Given the description of an element on the screen output the (x, y) to click on. 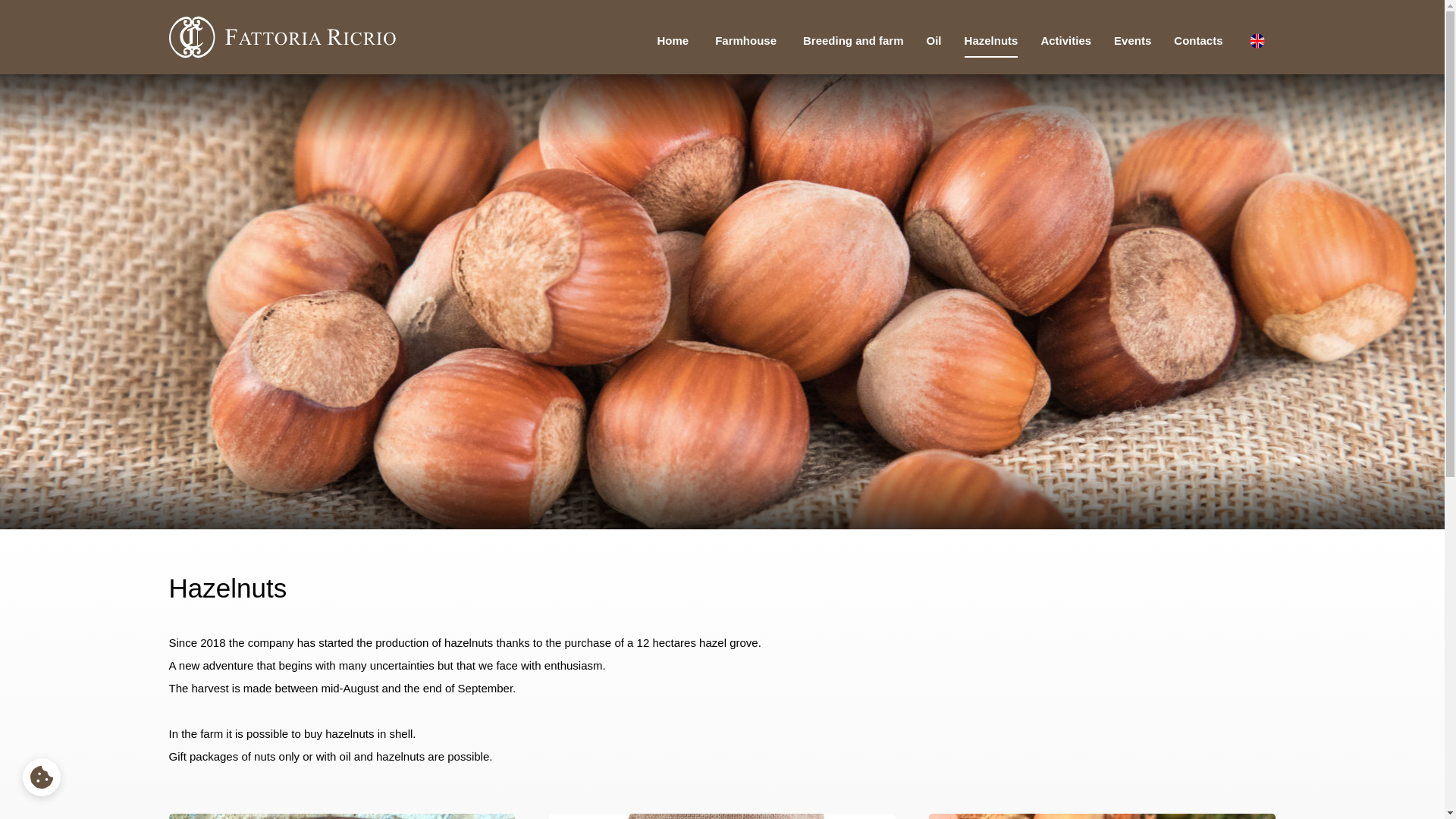
Activities (1065, 41)
Contacts (1198, 41)
Hazelnuts (990, 41)
Farmhouse (745, 41)
Breeding and farm (853, 41)
Home (672, 41)
Contacts (1198, 41)
Breeding and farm (853, 41)
Activities (1065, 41)
Farmhouse (745, 41)
nocciole1 (341, 816)
Hazelnuts (990, 41)
Fattoria Ricrio (282, 36)
English (1256, 40)
Home (672, 41)
